Given the description of an element on the screen output the (x, y) to click on. 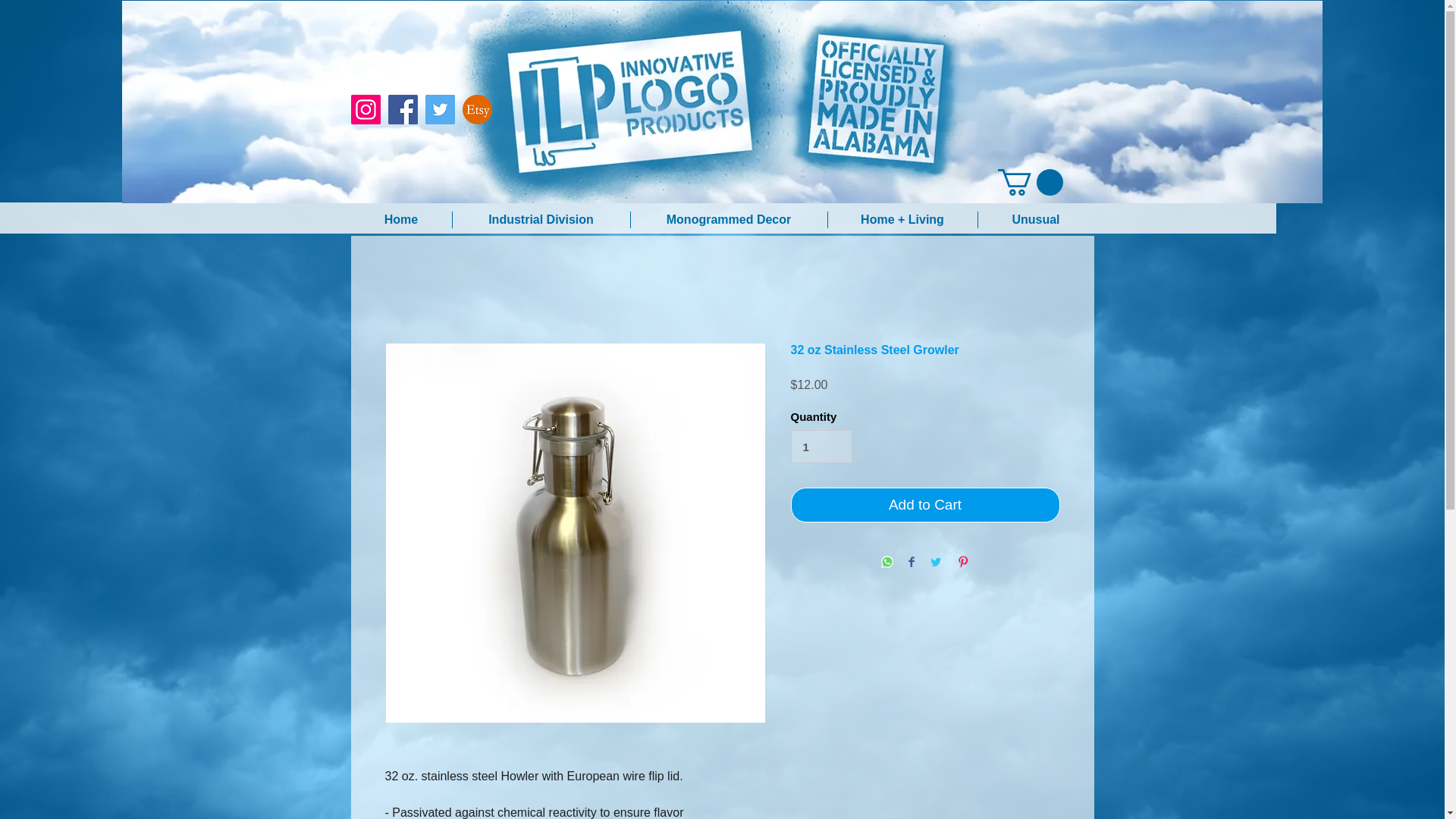
Monogrammed Decor (728, 219)
Add to Cart (924, 505)
Home (400, 219)
Industrial Division (539, 219)
Unusual (1036, 219)
1 (820, 446)
